Given the description of an element on the screen output the (x, y) to click on. 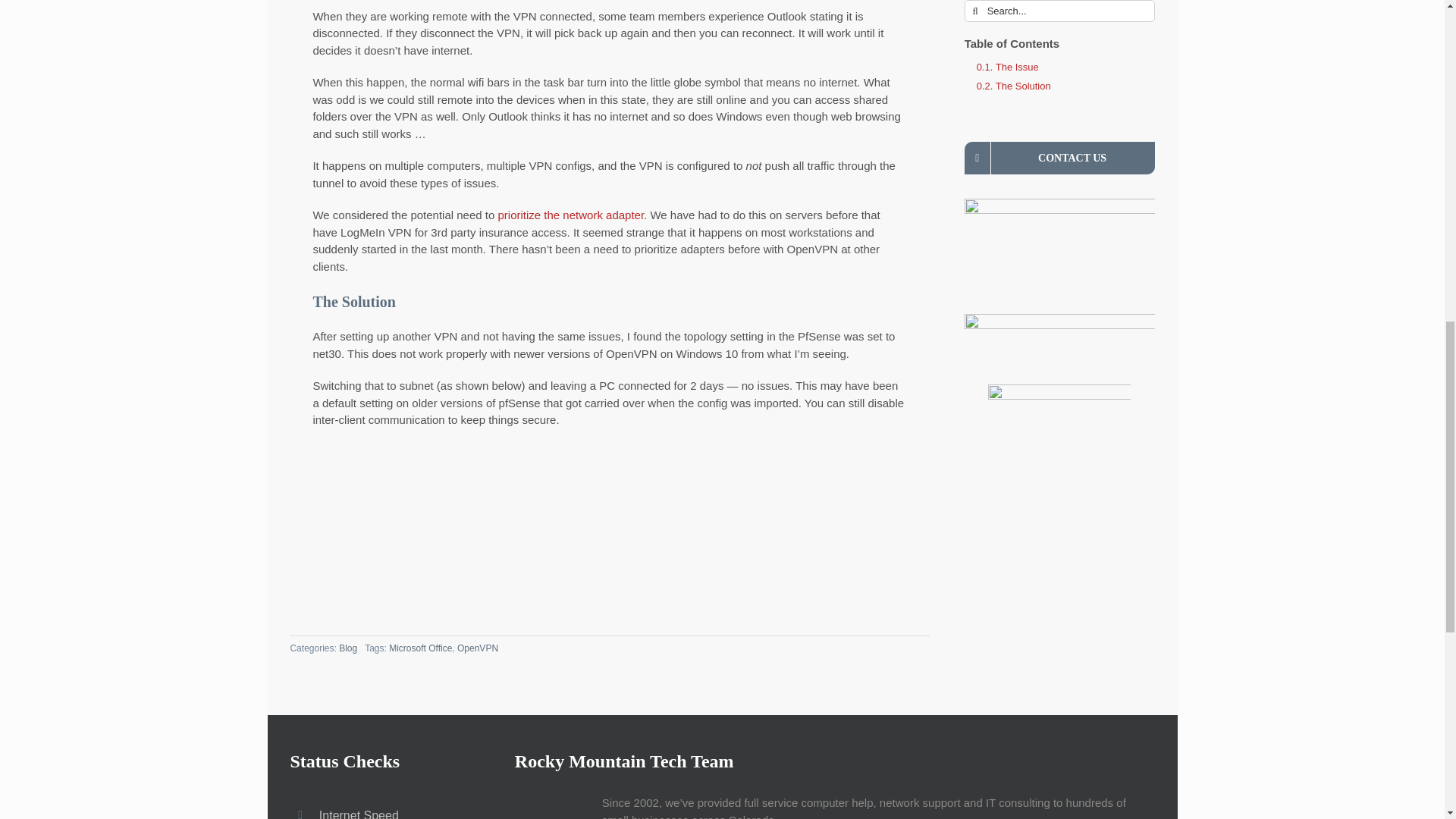
image (610, 516)
